Given the description of an element on the screen output the (x, y) to click on. 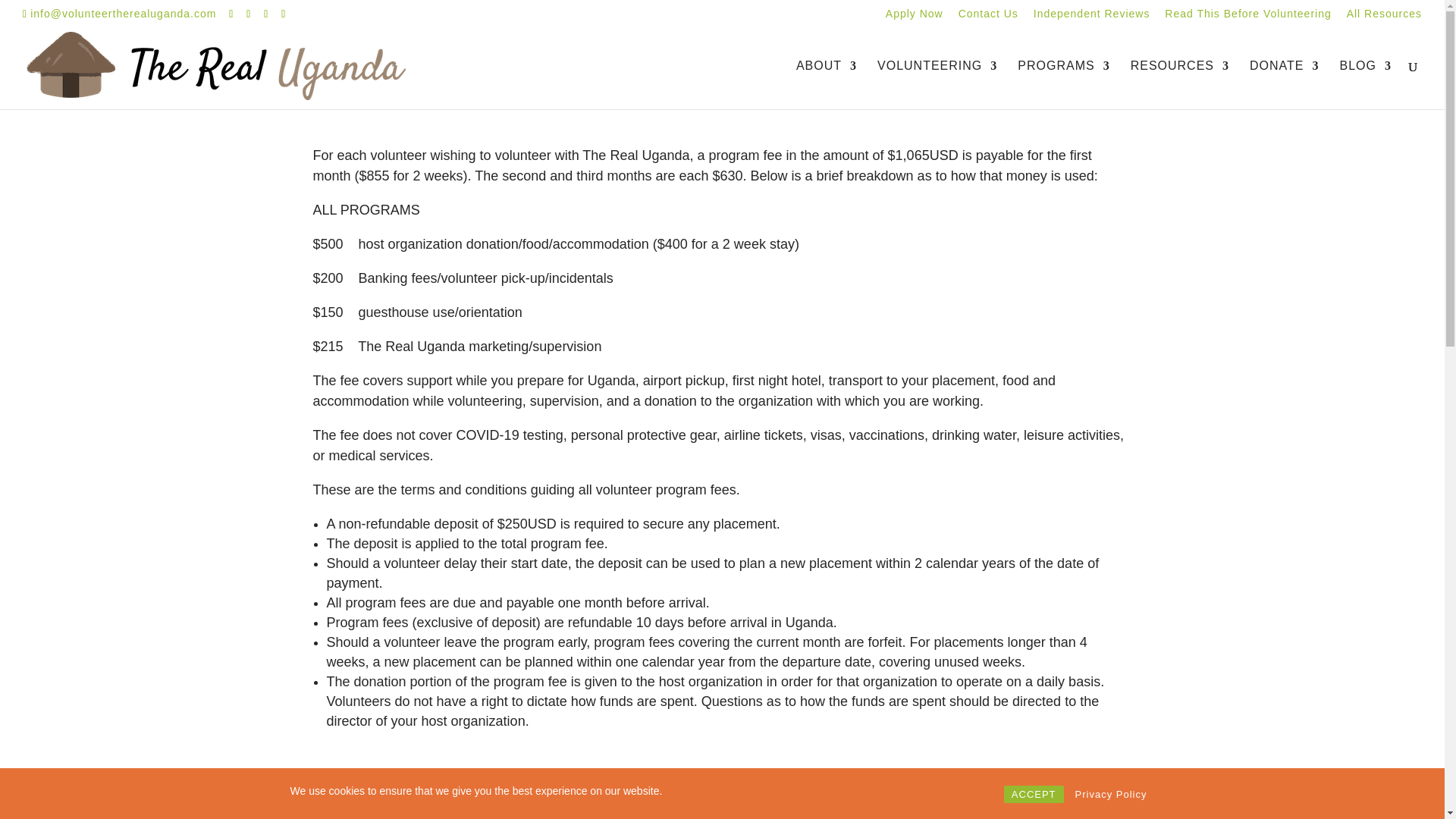
PROGRAMS (1063, 84)
RESOURCES (1179, 84)
All Resources (1384, 16)
Apply Now (914, 16)
Read This Before Volunteering (1247, 16)
Contact Us (987, 16)
VOLUNTEERING (937, 84)
Privacy Policy (1110, 794)
ACCEPT (1034, 794)
Independent Reviews (1091, 16)
ABOUT (826, 84)
